Given the description of an element on the screen output the (x, y) to click on. 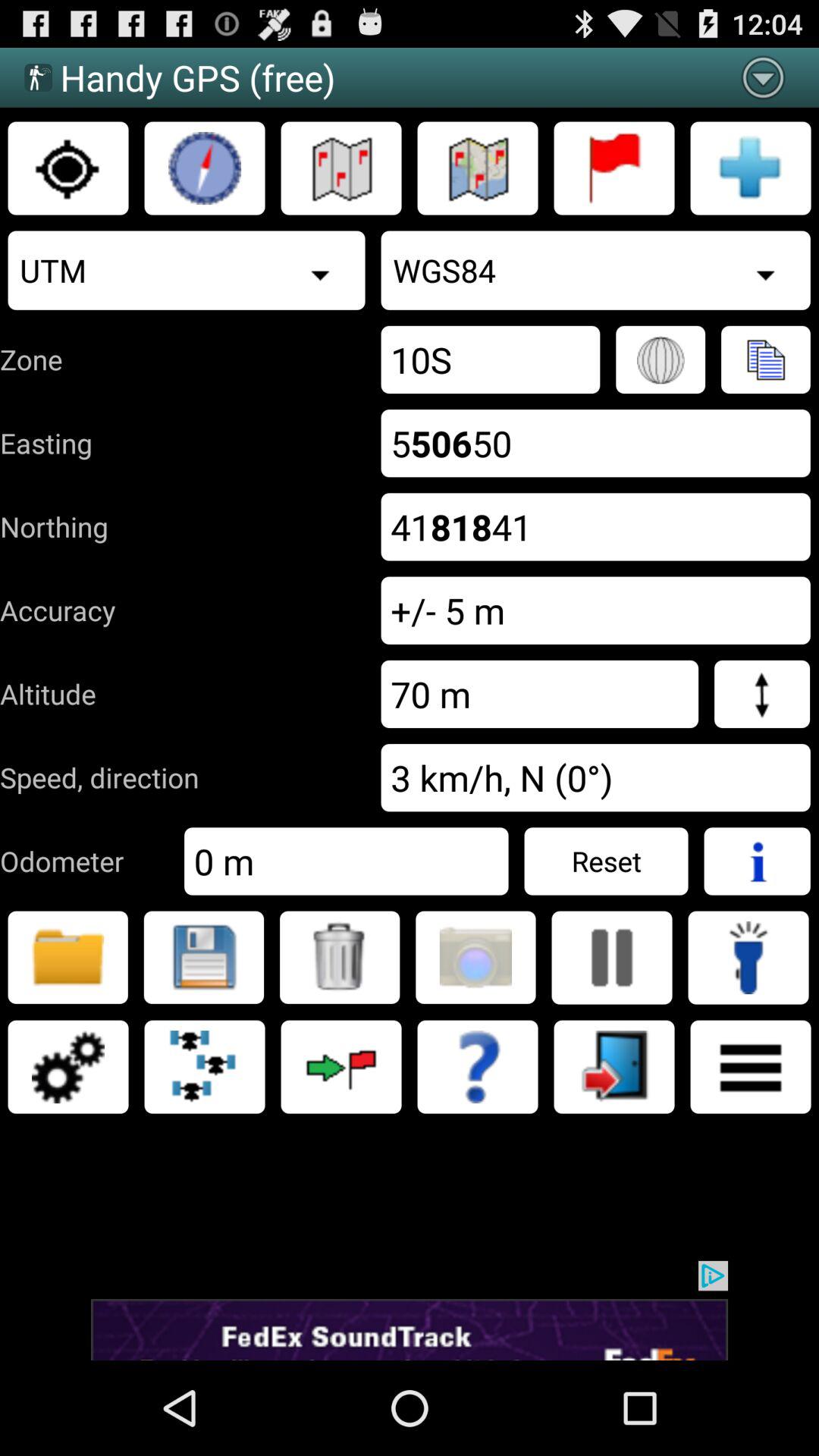
save the location (203, 957)
